Given the description of an element on the screen output the (x, y) to click on. 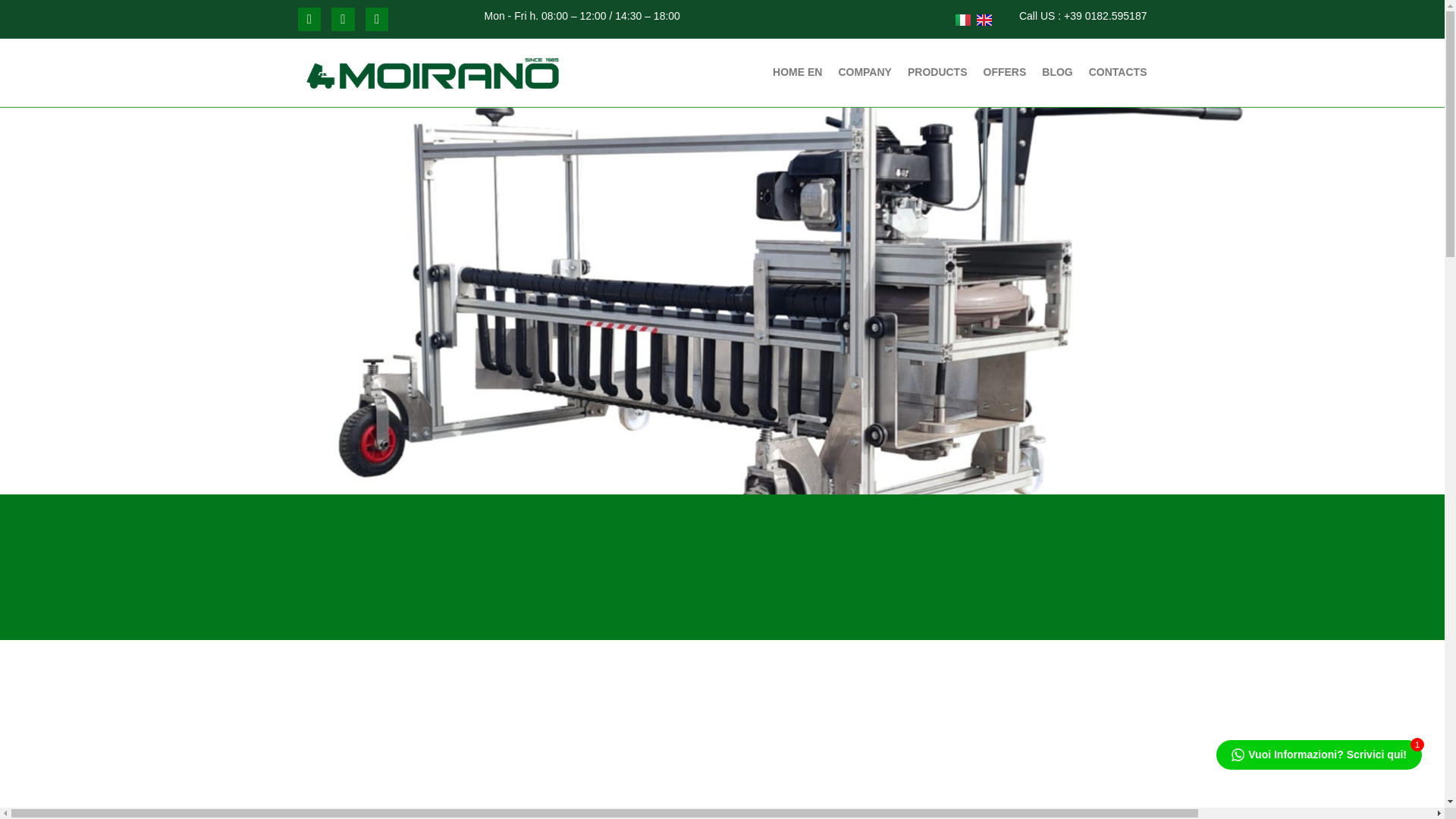
COMPANY (864, 72)
OFFERS (1004, 72)
CONTACTS (1118, 72)
PRODUCTS (937, 72)
HOME EN (797, 72)
